Given the description of an element on the screen output the (x, y) to click on. 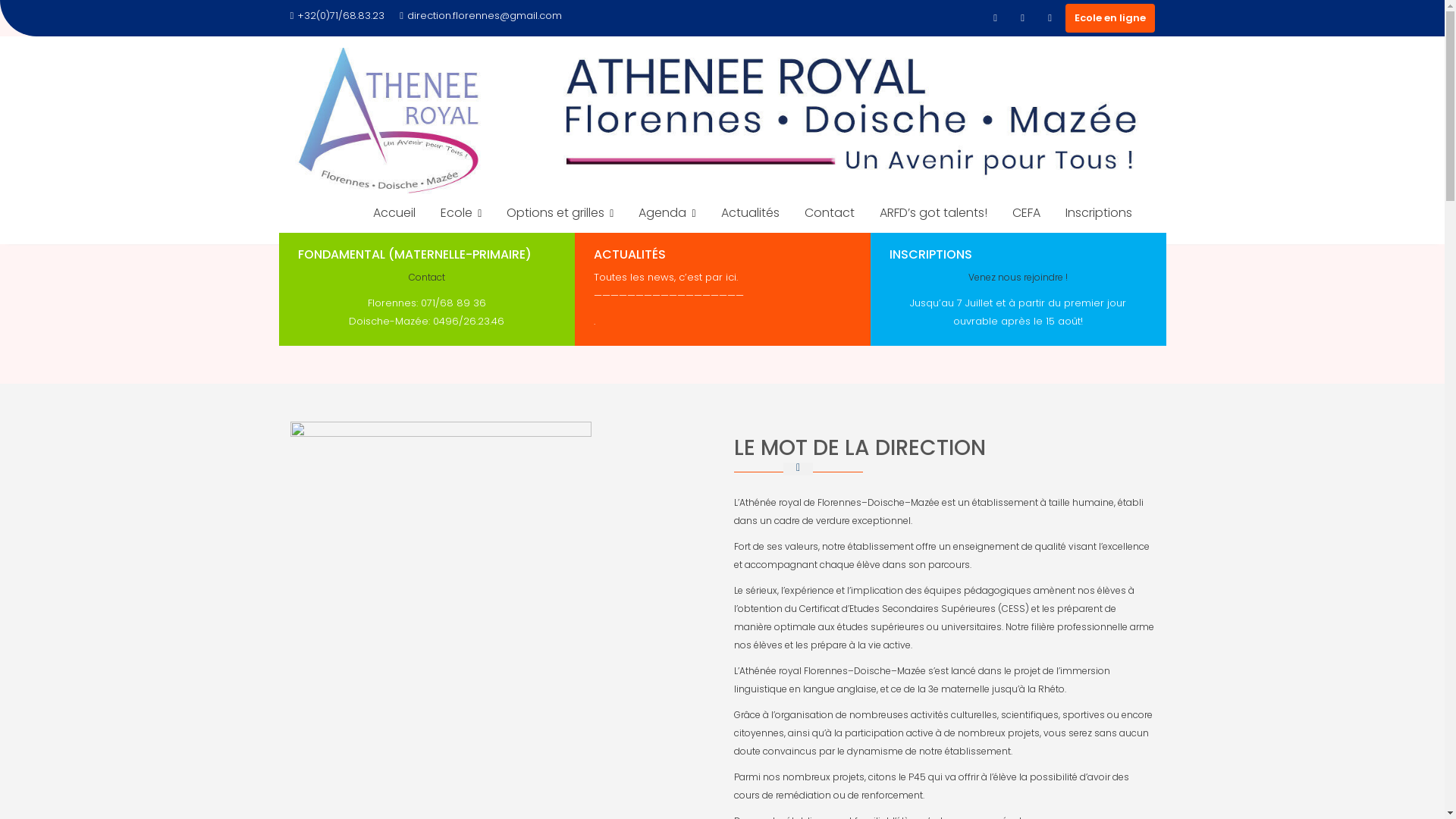
Contact Element type: text (829, 213)
Inscriptions Element type: text (1098, 213)
CEFA Element type: text (1026, 213)
Facebook Element type: hover (994, 18)
Agenda Element type: text (666, 213)
Youtube Element type: hover (1049, 18)
INSCRIPTIONS Element type: text (929, 254)
Ecole Element type: text (460, 213)
Ecole en ligne Element type: text (1109, 17)
FONDAMENTAL (MATERNELLE-PRIMAIRE) Element type: text (413, 254)
Accueil Element type: text (393, 213)
Instagram Element type: hover (1022, 18)
Options et grilles Element type: text (559, 213)
direction.florennes@gmail.com Element type: text (480, 15)
